Given the description of an element on the screen output the (x, y) to click on. 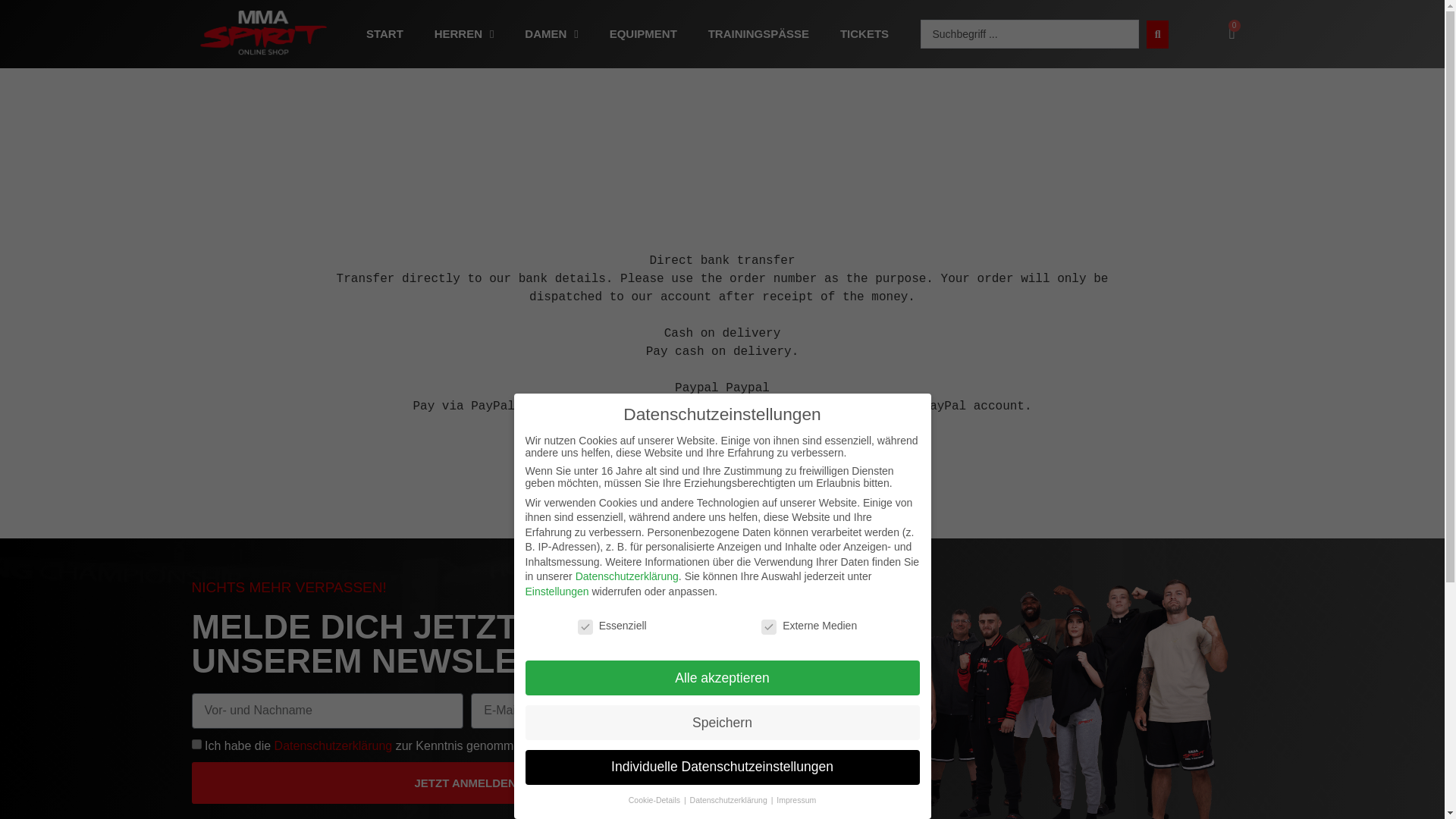
EQUIPMENT (642, 33)
on (195, 744)
DAMEN (551, 33)
START (385, 33)
HERREN (463, 33)
